Given the description of an element on the screen output the (x, y) to click on. 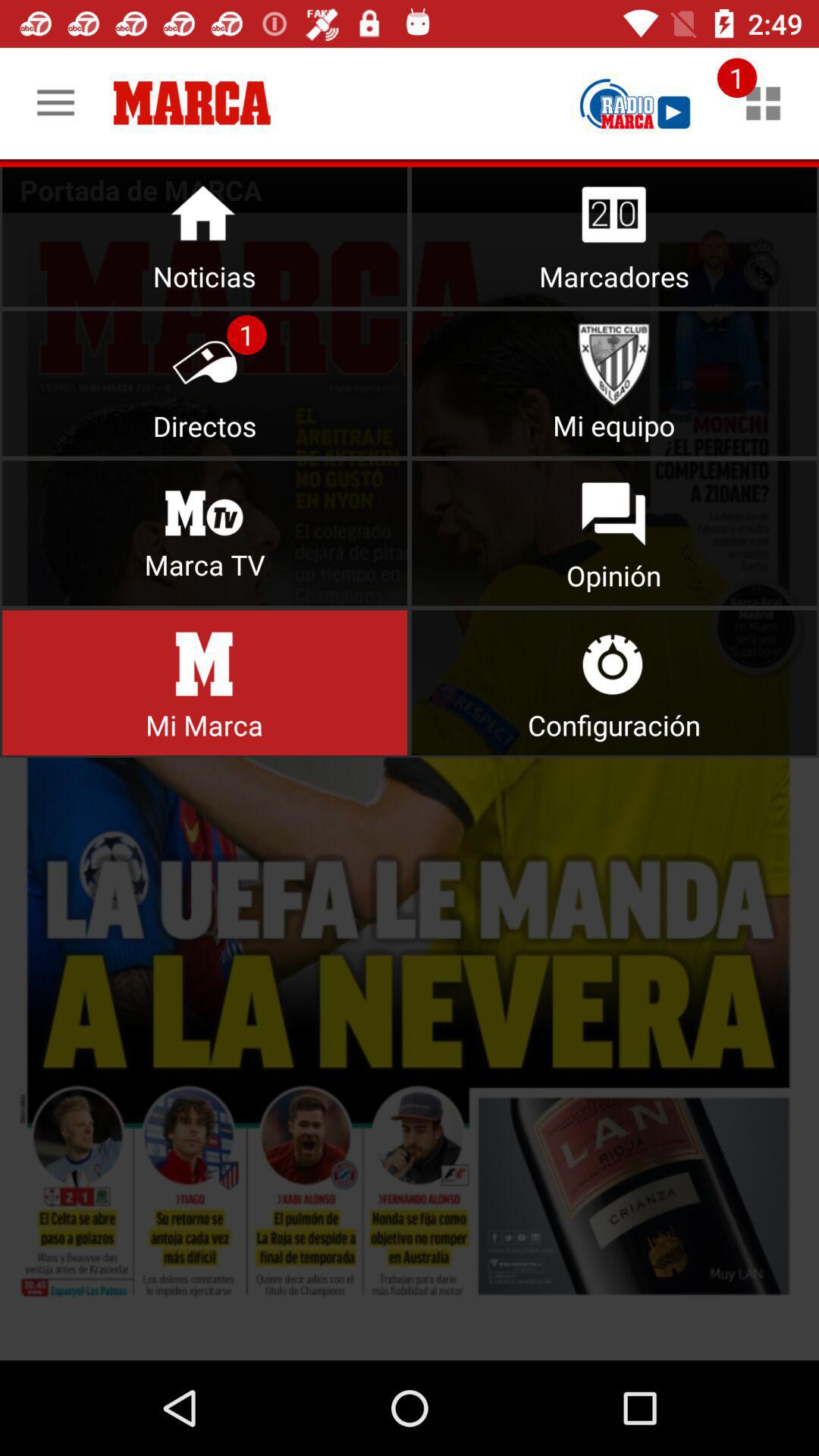
select options from menu (409, 786)
